Given the description of an element on the screen output the (x, y) to click on. 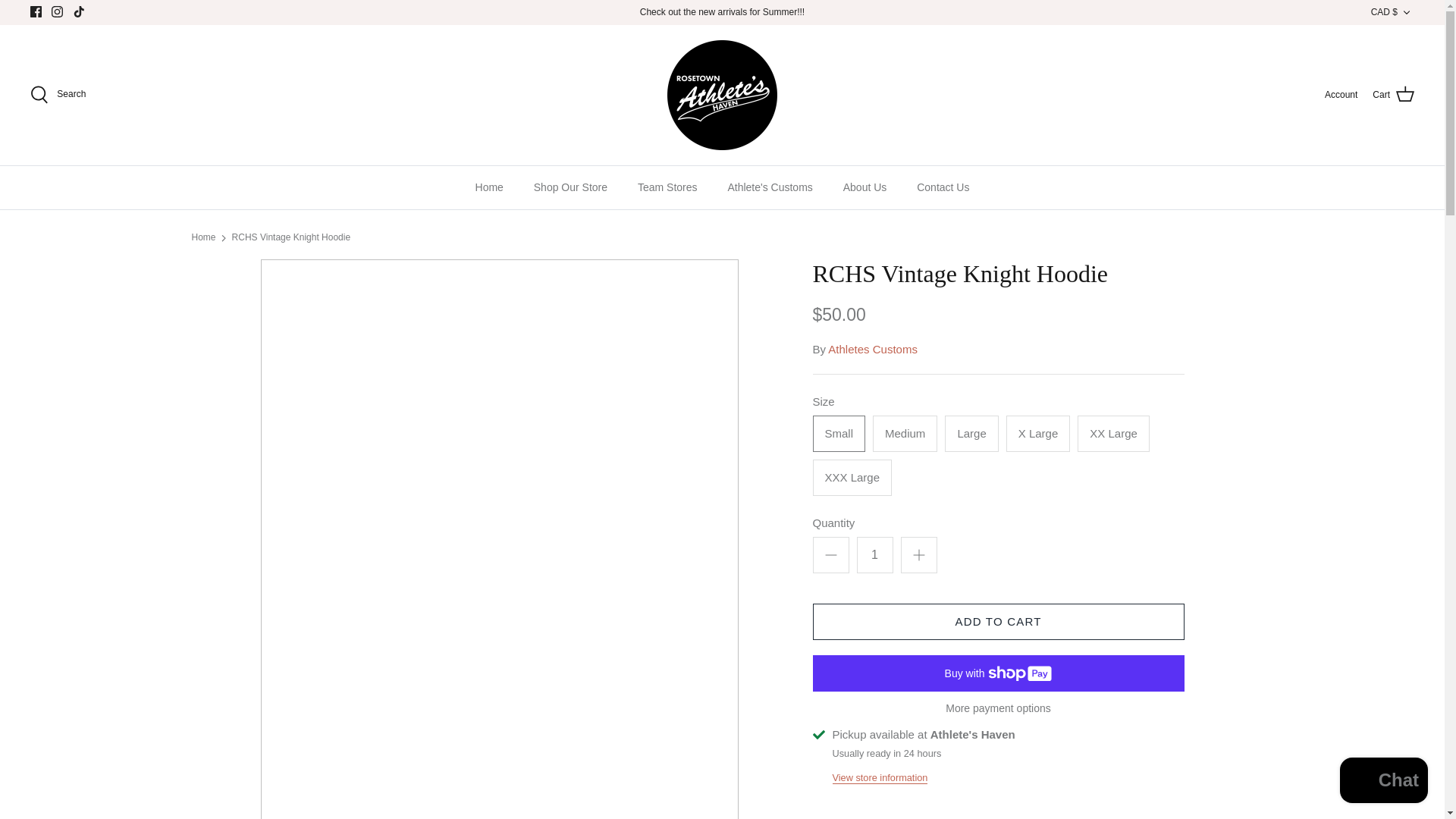
Instagram (56, 11)
Down (1406, 12)
Facebook (36, 11)
1 (875, 555)
Minus (831, 555)
Plus (919, 555)
Facebook (36, 11)
Athlete's Haven (721, 94)
Instagram (56, 11)
Shopify online store chat (1383, 781)
